Given the description of an element on the screen output the (x, y) to click on. 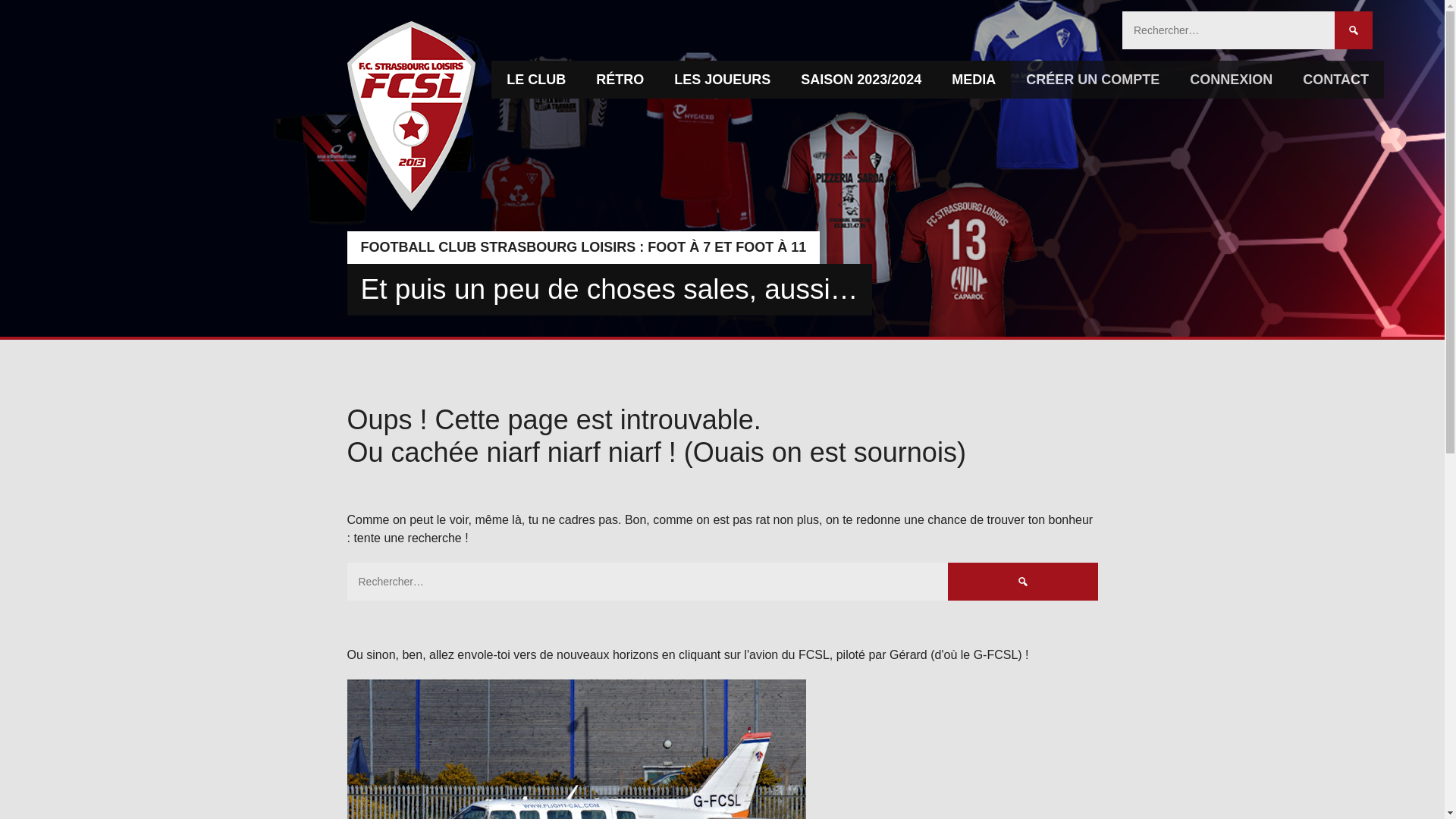
LE CLUB (536, 79)
Rechercher (1354, 30)
Rechercher (1022, 581)
